Given the description of an element on the screen output the (x, y) to click on. 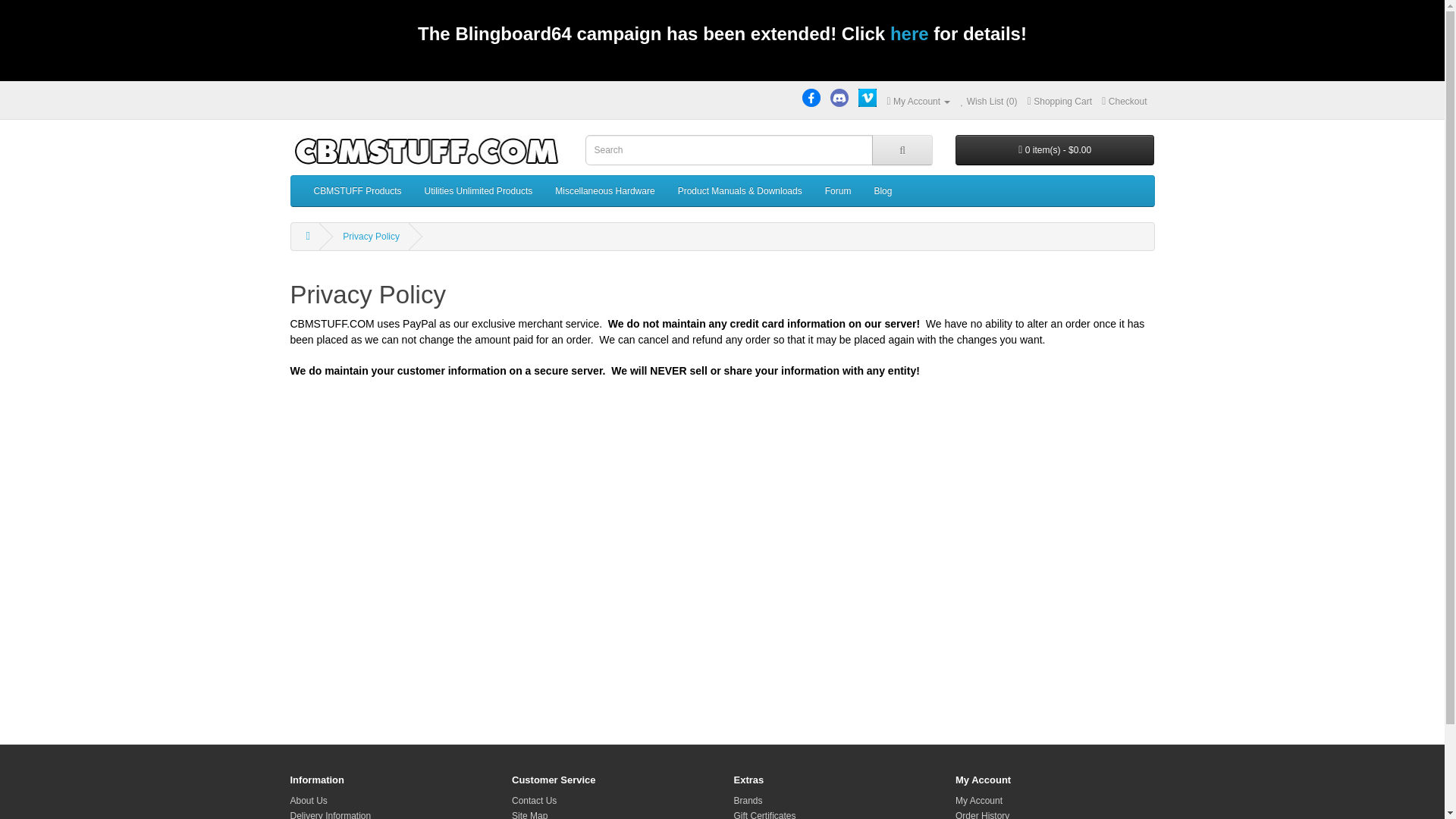
Utilities Unlimited Products (478, 191)
Miscellaneous Hardware (604, 191)
Checkout (1124, 101)
Discord (838, 97)
Facebook (811, 97)
here (908, 36)
Shopping Cart (1059, 101)
Shopping Cart (1059, 101)
Vimeo (867, 97)
Checkout (1124, 101)
My Account (918, 101)
CBMSTUFF Products (356, 191)
CBMSTUFF.COM (425, 151)
My Account (918, 101)
